Given the description of an element on the screen output the (x, y) to click on. 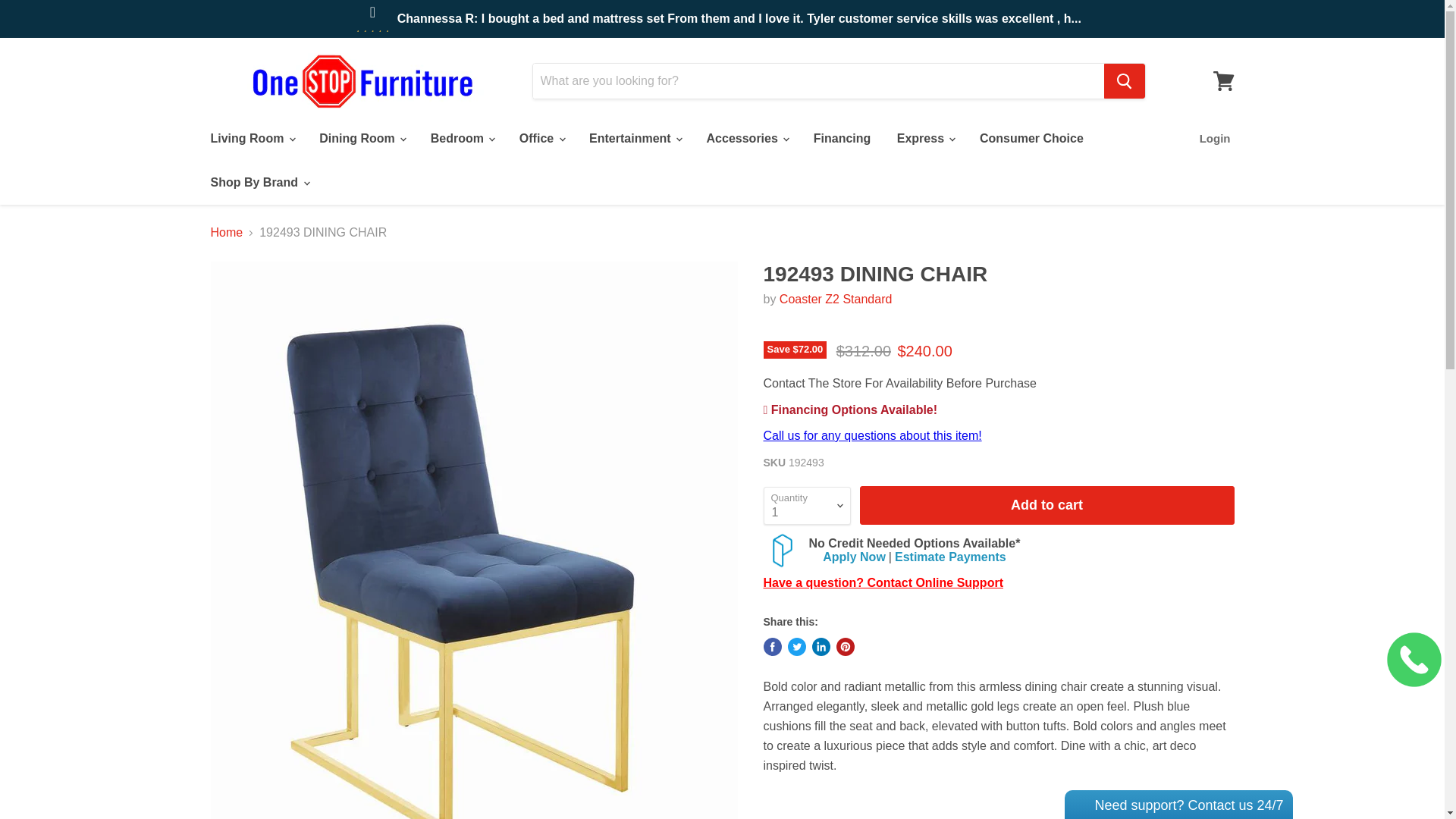
View cart (1223, 80)
Dining Room (360, 138)
Living Room (251, 138)
Bedroom (462, 138)
Coaster Z2 Standard (835, 298)
